Given the description of an element on the screen output the (x, y) to click on. 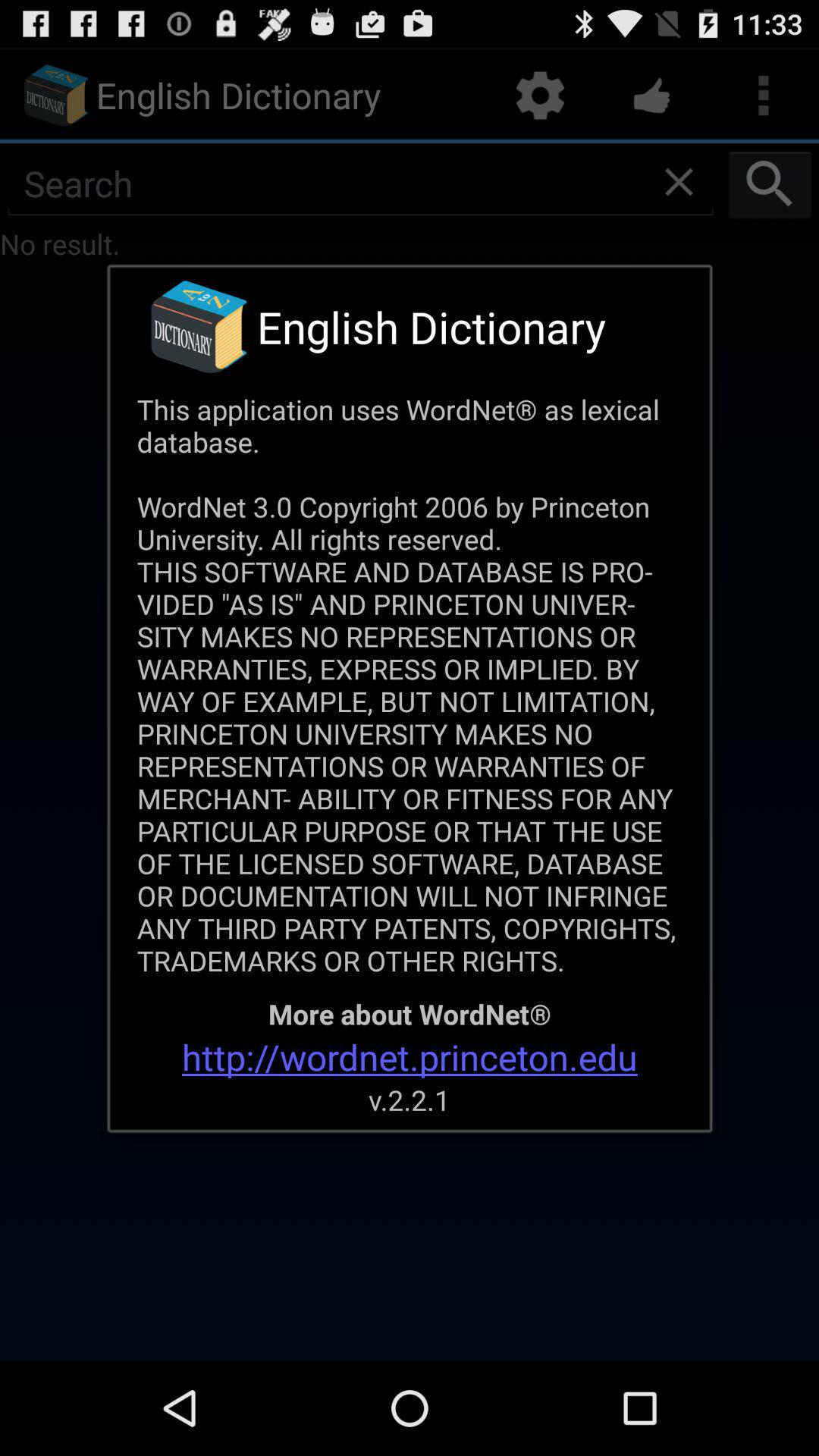
choose the http wordnet princeton (409, 1056)
